Given the description of an element on the screen output the (x, y) to click on. 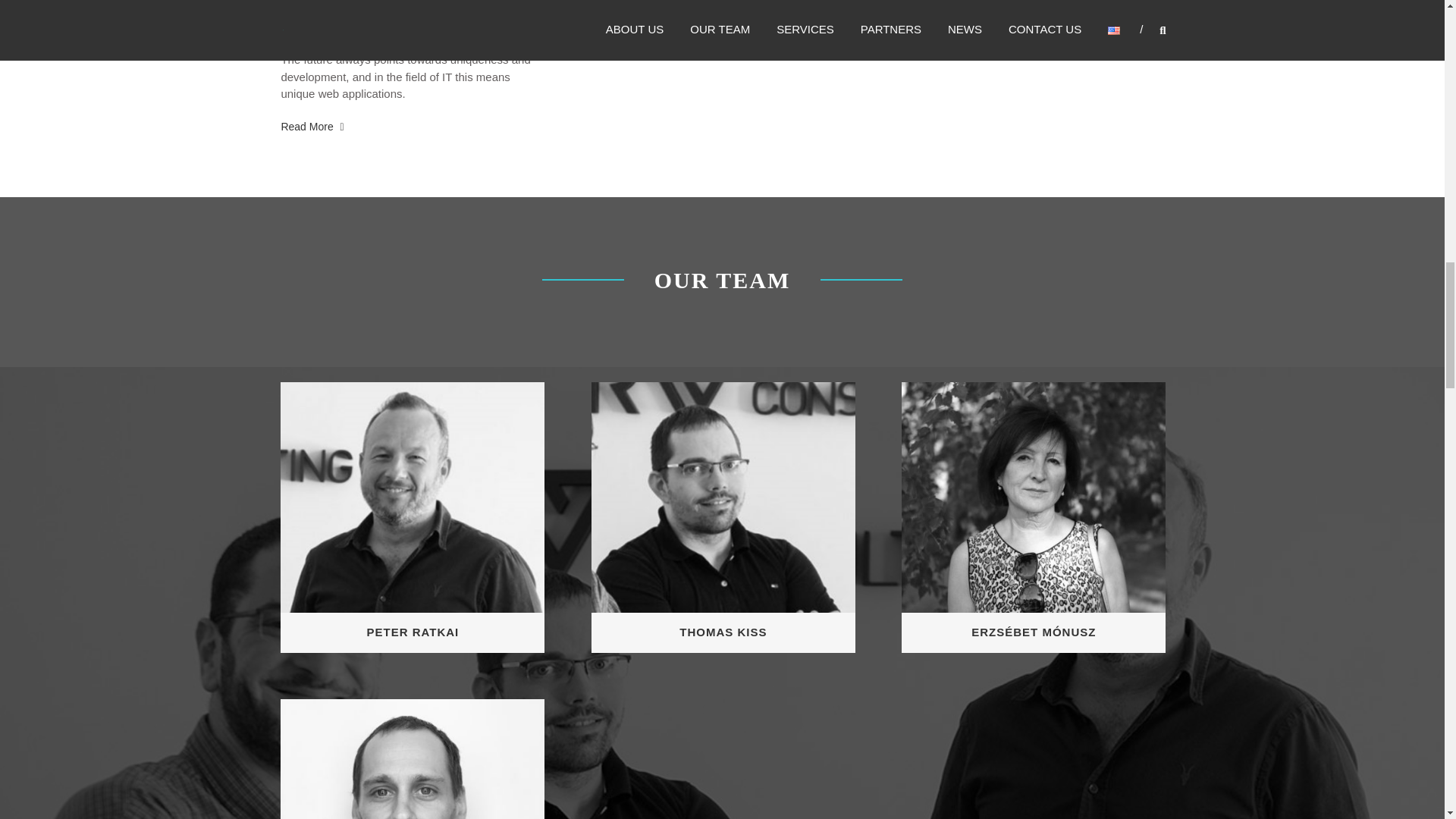
Development (312, 126)
Read More (312, 126)
Development (337, 9)
DEVELOPMENT (337, 9)
